Given the description of an element on the screen output the (x, y) to click on. 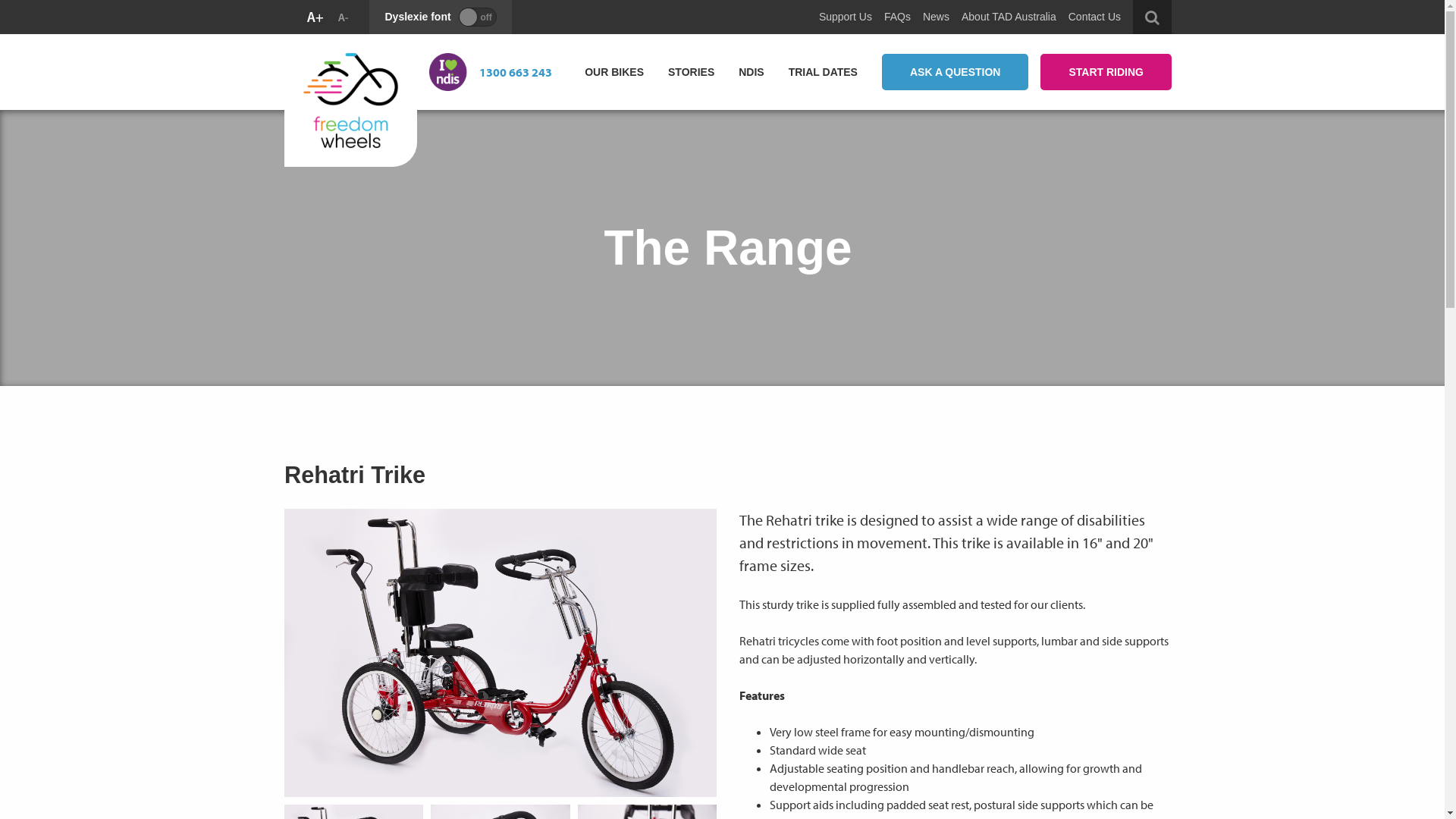
STORIES Element type: text (690, 71)
TRIAL DATES Element type: text (822, 71)
NDIS Element type: text (750, 71)
START RIDING Element type: text (1105, 71)
OUR BIKES Element type: text (613, 71)
ASK A QUESTION Element type: text (955, 71)
